Given the description of an element on the screen output the (x, y) to click on. 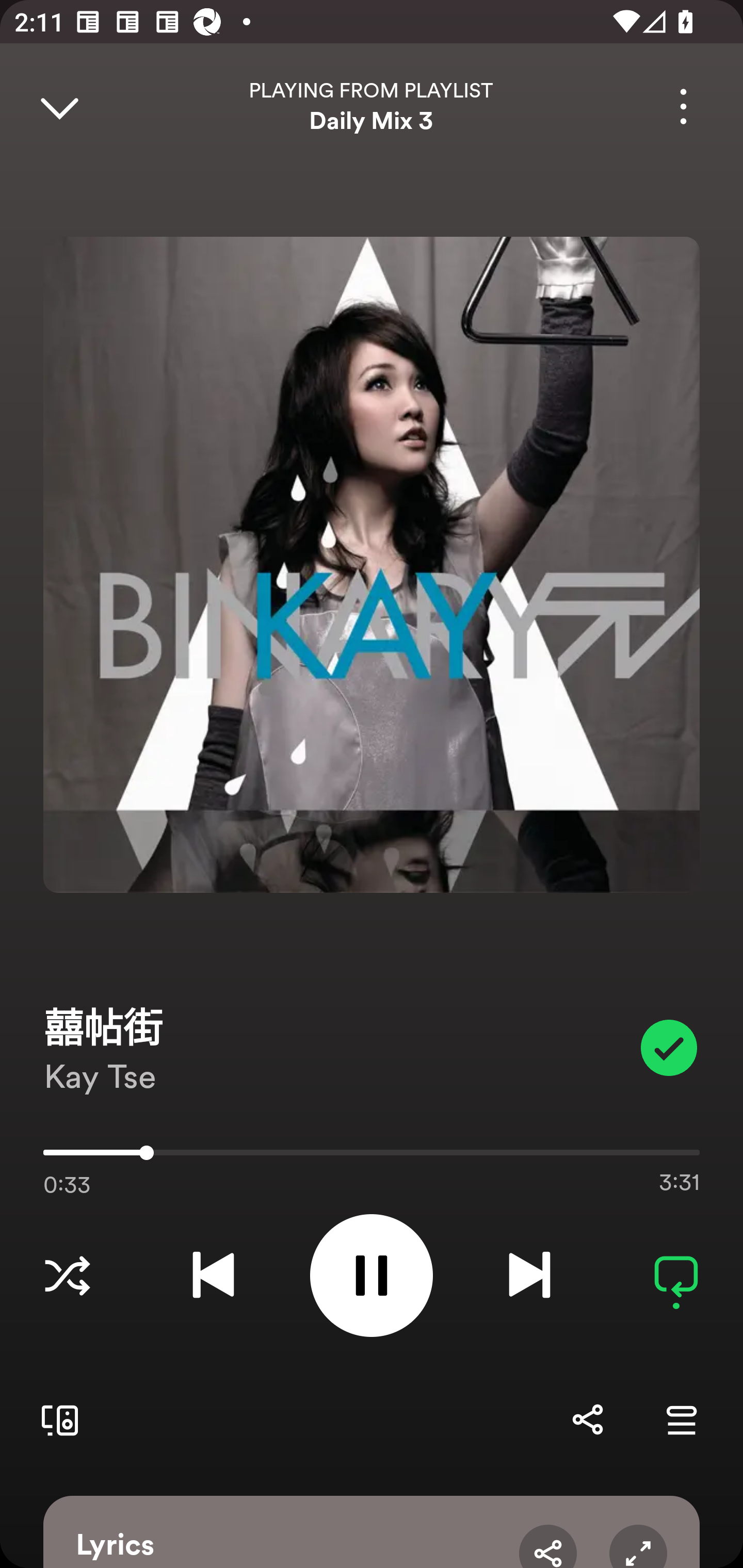
Close (59, 106)
More options for song 囍帖街 (683, 106)
PLAYING FROM PLAYLIST Daily Mix 3 (371, 106)
Item added (669, 1046)
0:33 3:31 33062.0 Use volume keys to adjust (371, 1157)
33062.0 Use volume keys to adjust (371, 1149)
Pause (371, 1275)
Previous (212, 1275)
Next (529, 1275)
Choose a Listening Mode (66, 1275)
Repeat (676, 1275)
Share (587, 1419)
Go to Queue (681, 1419)
Connect to a device. Opens the devices menu (55, 1419)
Lyrics Share Expand (371, 1531)
Lyrics Share Expand (371, 1531)
Share (547, 1546)
Expand (638, 1546)
